Given the description of an element on the screen output the (x, y) to click on. 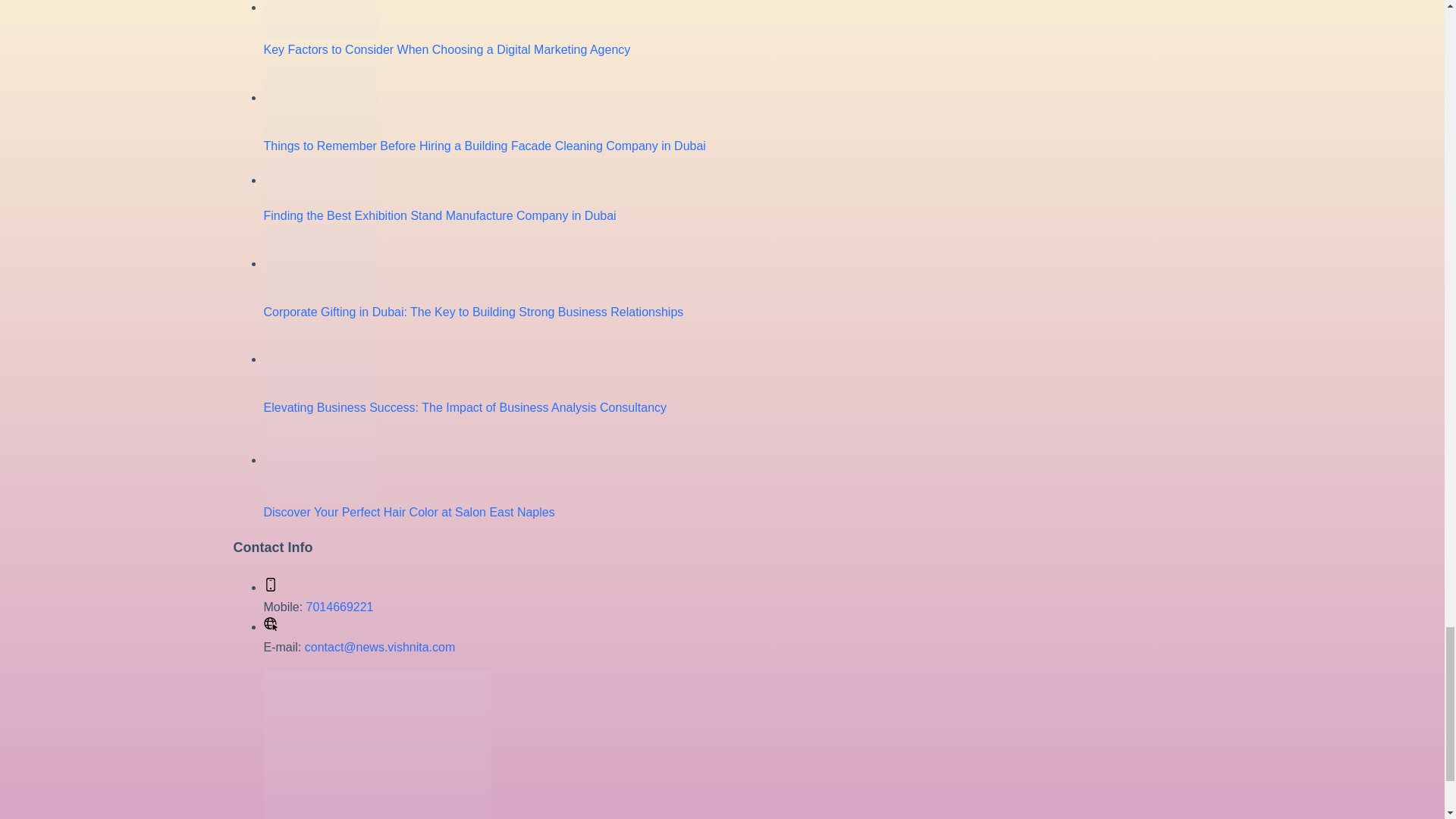
Discover Your Perfect Hair Color at Salon East Naples 15 (320, 459)
